Given the description of an element on the screen output the (x, y) to click on. 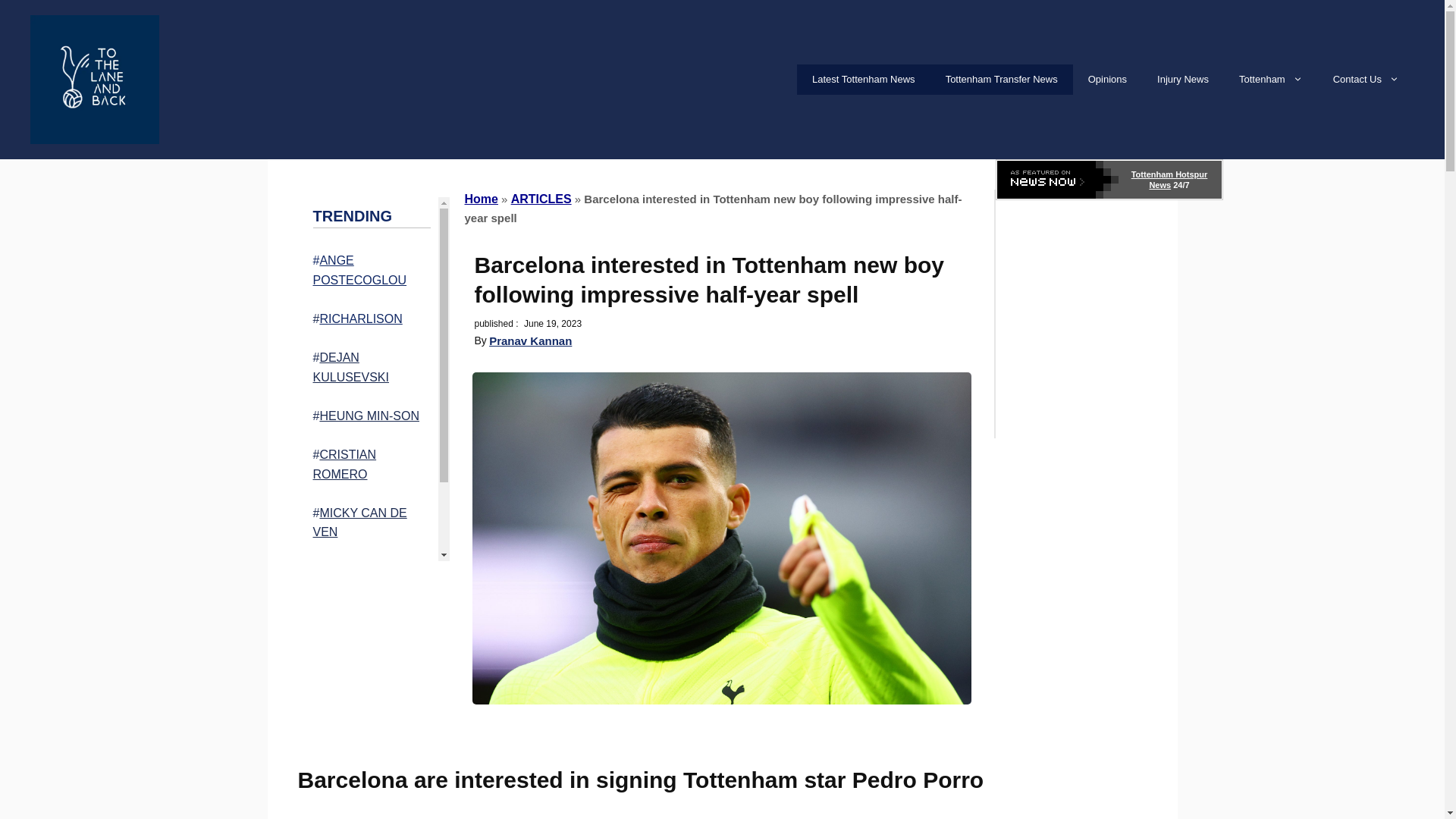
Click here for more Tottenham Hotspur news from NewsNow (1108, 178)
Injury News (1182, 79)
Tottenham (1270, 79)
Latest Tottenham News (863, 79)
Opinions (1107, 79)
CRISTIAN ROMERO (344, 463)
ARCHIE GRAY (366, 611)
Pranav Kannan (530, 340)
DEJAN KULUSEVSKI (350, 367)
RICHARLISON (359, 318)
RADU DRAGUSIN (369, 570)
ARTICLES (541, 198)
ANGE POSTECOGLOU (359, 269)
Tottenham Transfer News (1001, 79)
HEUNG MIN-SON (368, 415)
